Given the description of an element on the screen output the (x, y) to click on. 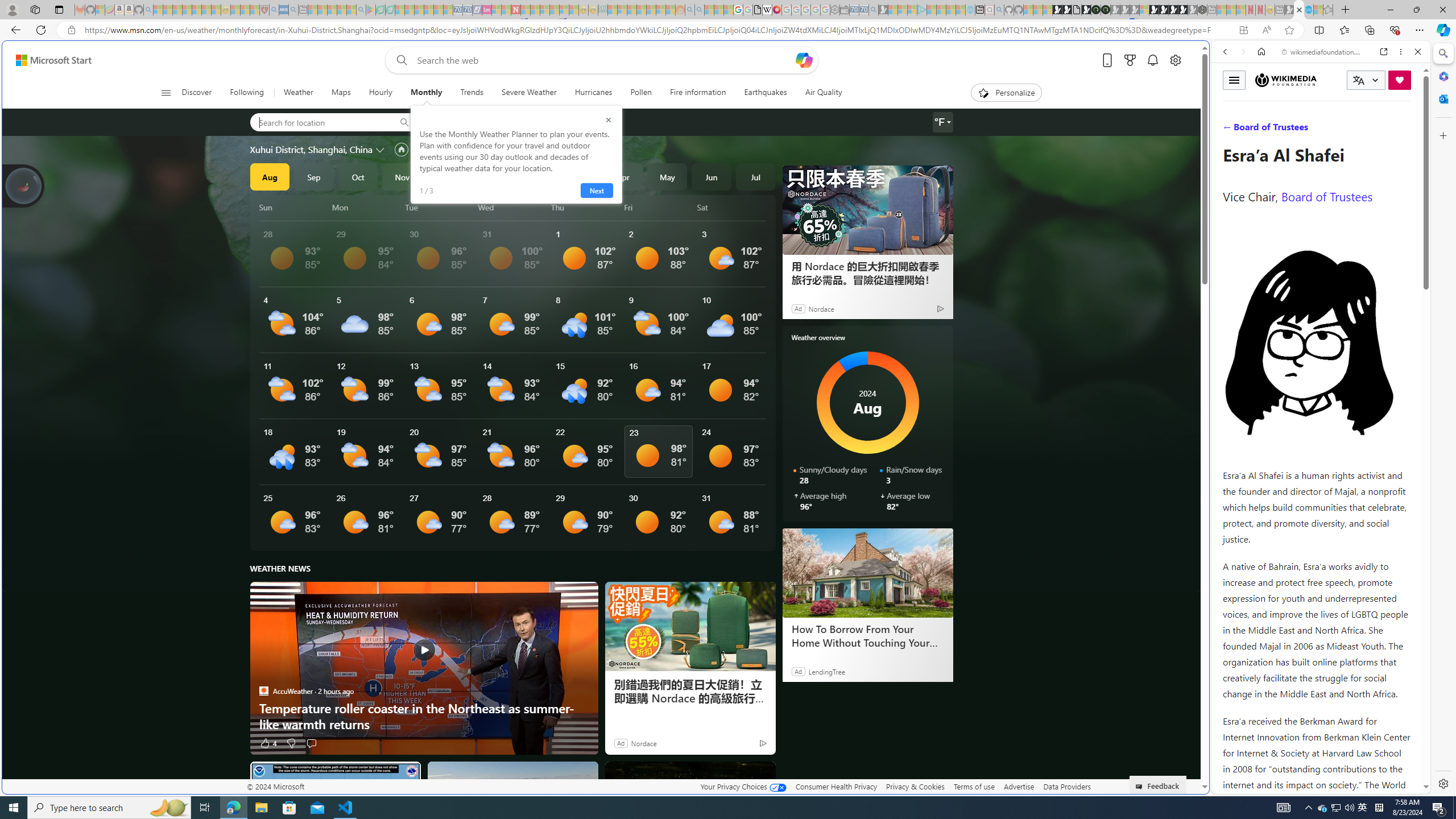
Oct (357, 176)
App available. Install Microsoft Start Weather (1243, 29)
utah sues federal government - Search (922, 389)
Open settings (1175, 60)
Pets - MSN - Sleeping (340, 9)
Feb (534, 176)
Search Filter, IMAGES (1262, 129)
Next (595, 190)
Close split screen (1208, 57)
Change location (381, 149)
Dec (445, 176)
